Given the description of an element on the screen output the (x, y) to click on. 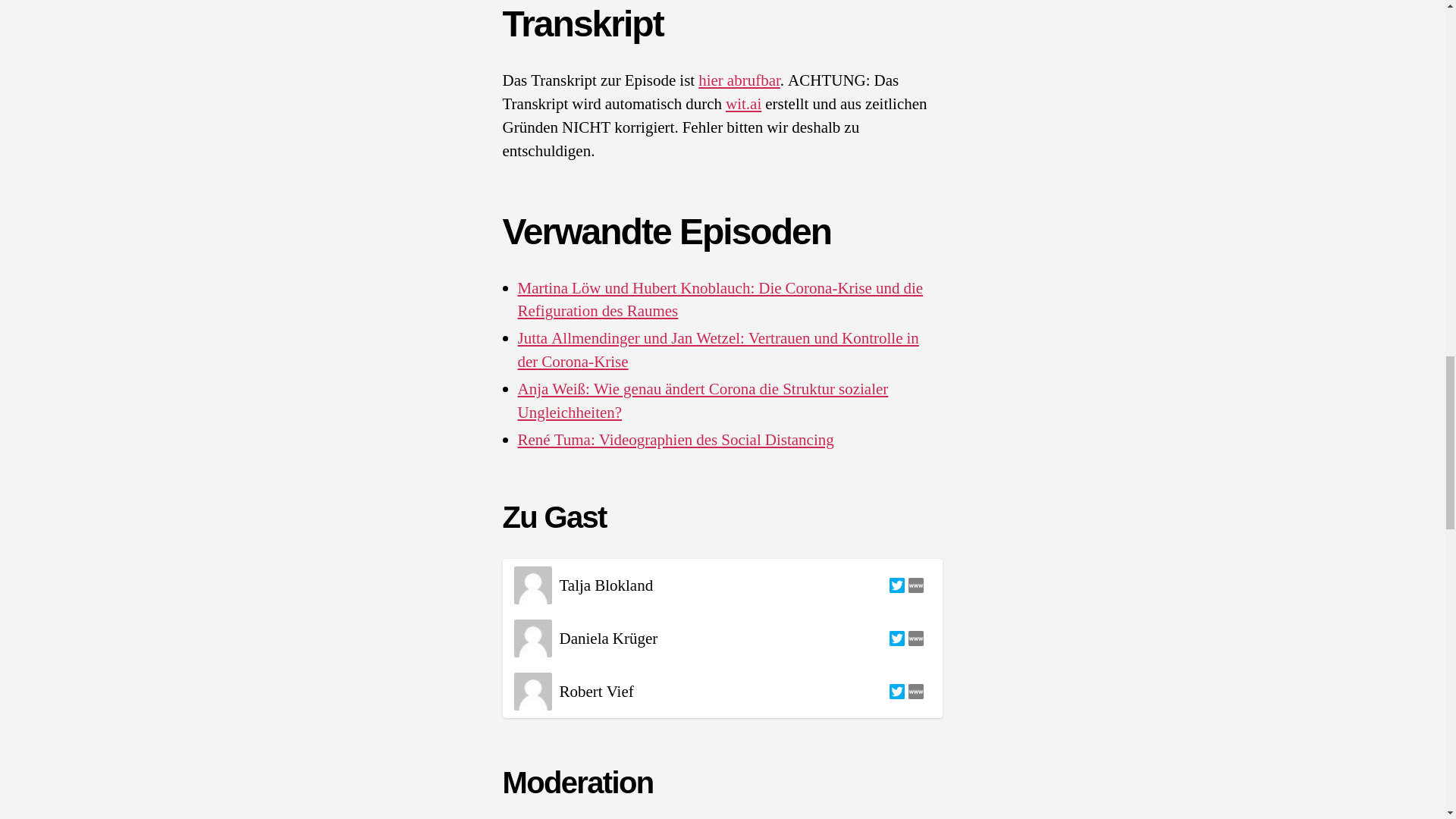
Website (913, 691)
Twitter (894, 638)
Website (913, 638)
Website (913, 585)
Twitter (894, 585)
hier abrufbar (739, 80)
wit.ai (743, 104)
Twitter (894, 691)
